Given the description of an element on the screen output the (x, y) to click on. 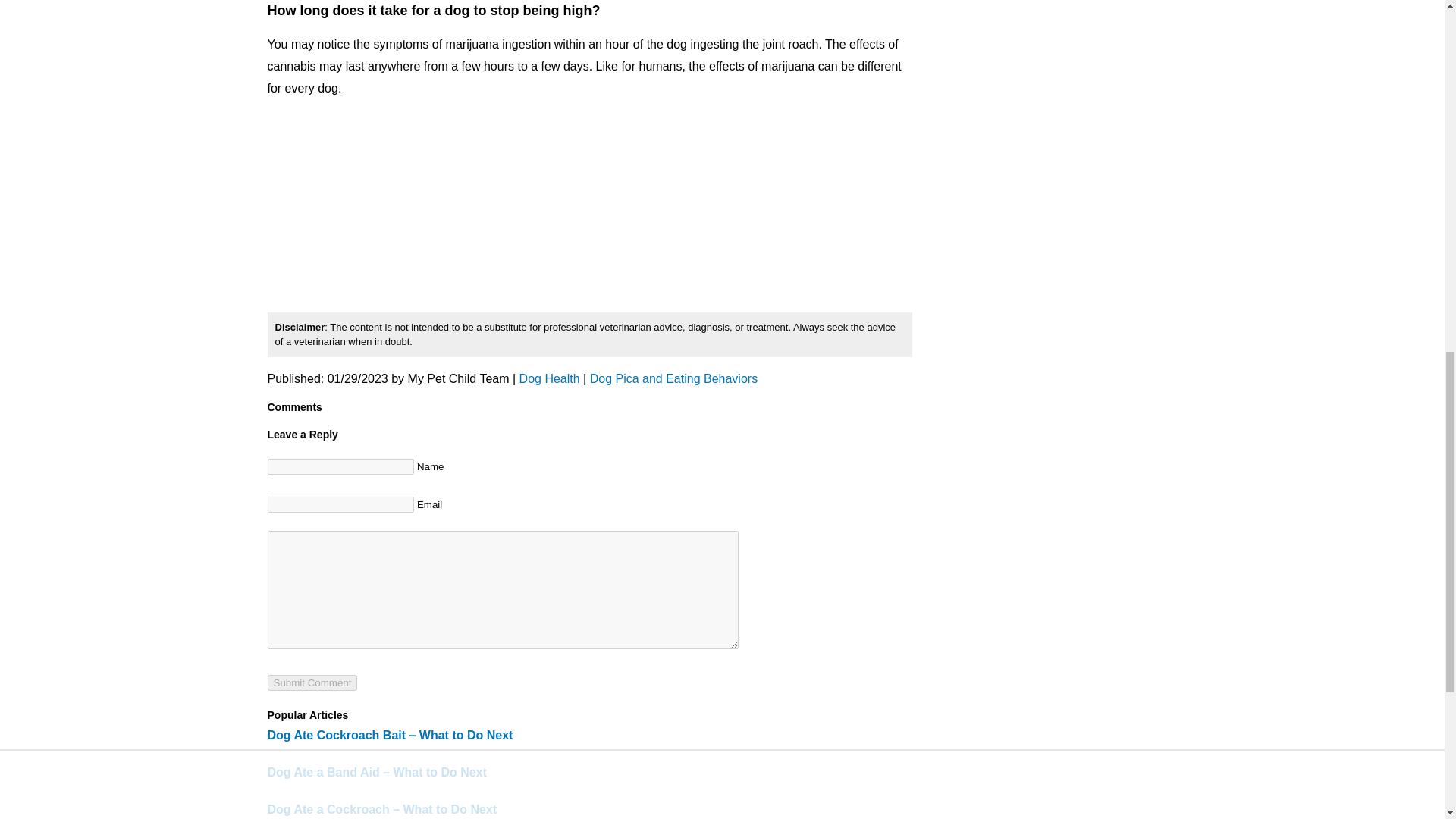
Dog Health (549, 378)
Dog Pica and Eating Behaviors (673, 378)
Submit Comment (311, 682)
Submit Comment (311, 682)
